Given the description of an element on the screen output the (x, y) to click on. 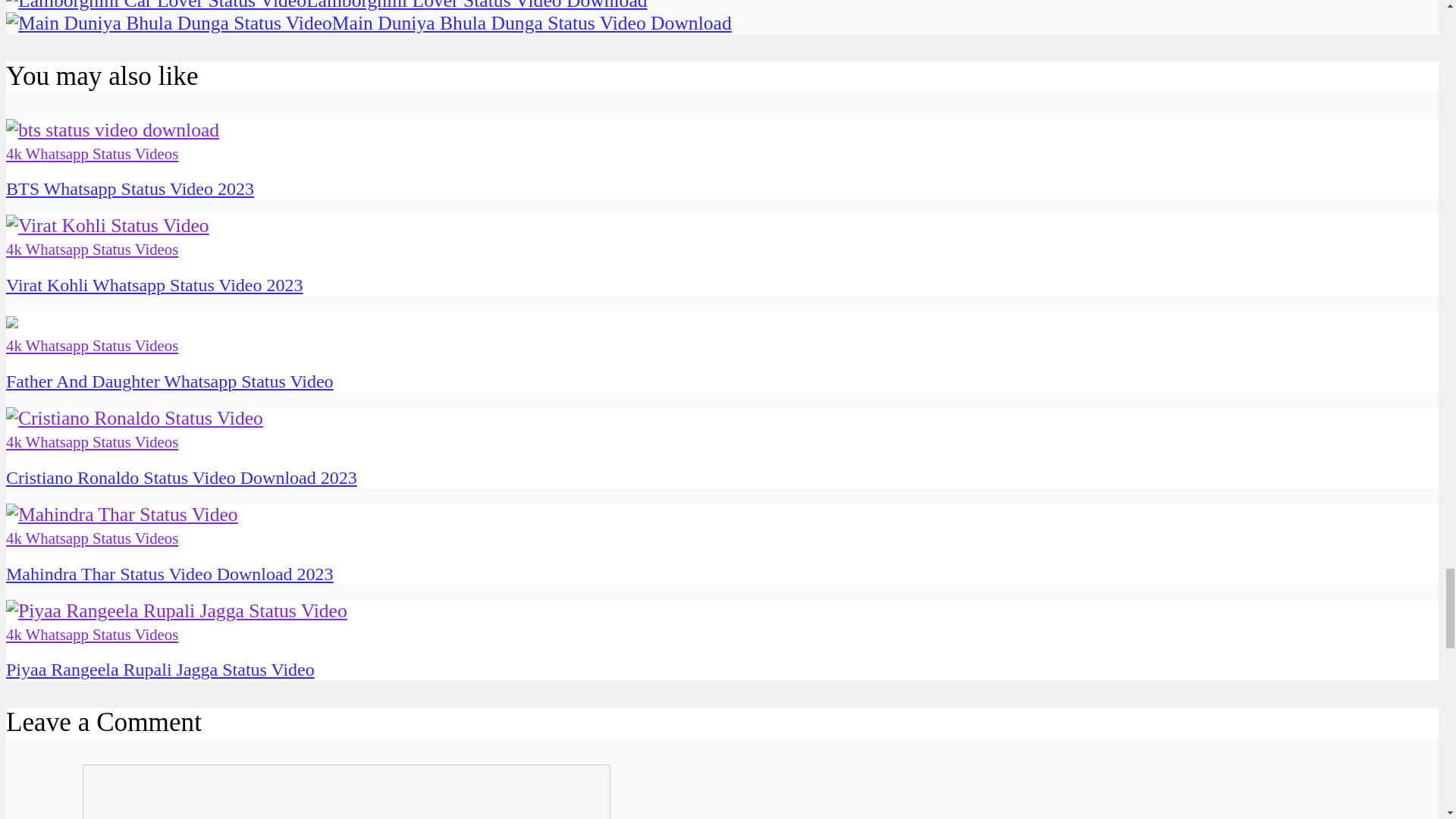
Virat Kohli Whatsapp Status Video 2023 (107, 225)
Piyaa Rangeela Rupali Jagga Status Video (159, 669)
Cristiano Ronaldo Status Video Download 2023 (180, 477)
Mahindra Thar Status Video Download 2023 (121, 514)
Virat Kohli Whatsapp Status Video 2023 (153, 284)
Mahindra Thar Status Video Download 2023 (169, 573)
BTS Whatsapp Status Video 2023 (129, 189)
BTS Whatsapp Status Video 2023 (112, 128)
Cristiano Ronaldo Status Video Download 2023 (134, 418)
Piyaa Rangeela Rupali Jagga Status Video (176, 610)
Father And Daughter Whatsapp Status Video (169, 381)
